Given the description of an element on the screen output the (x, y) to click on. 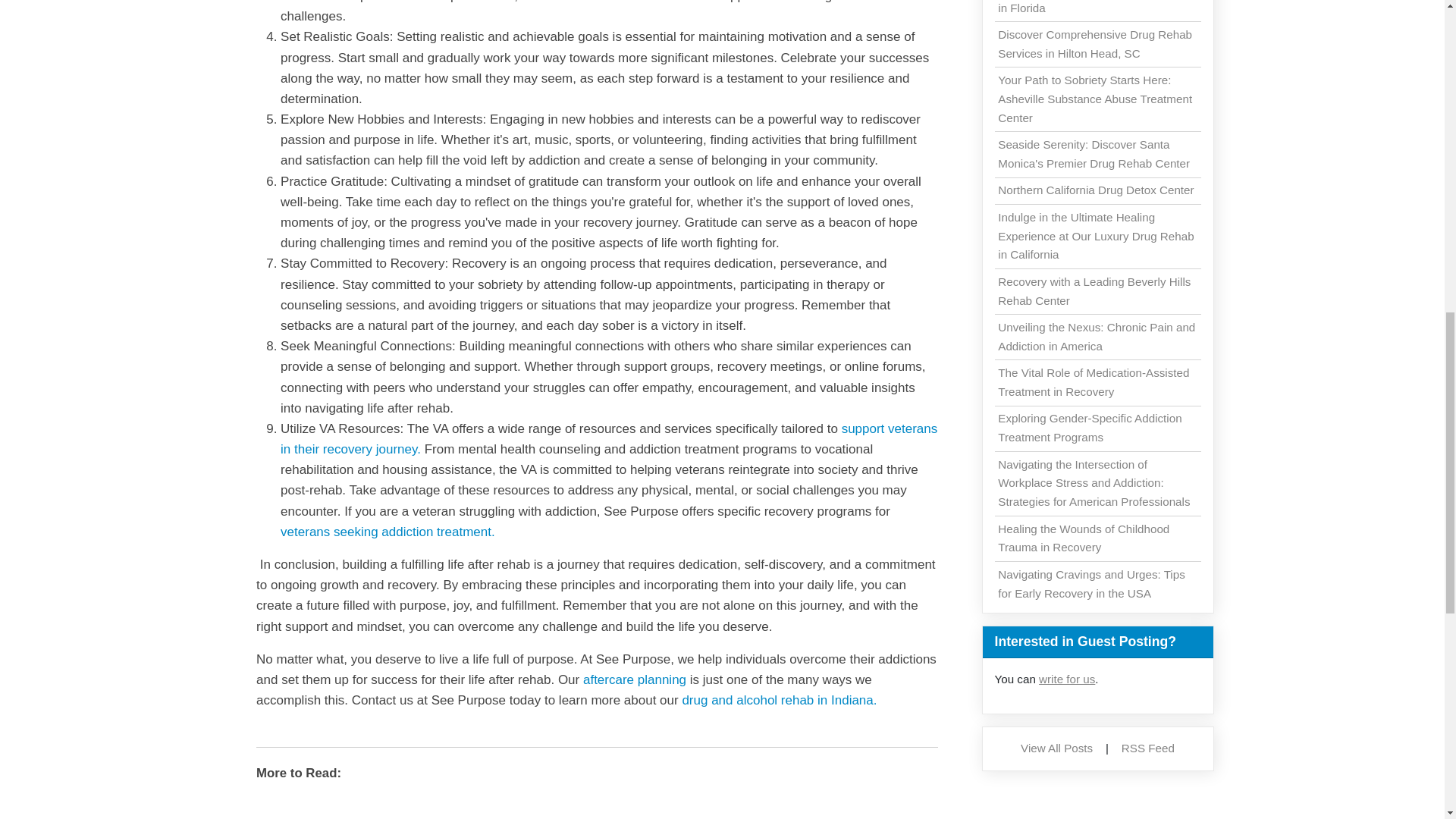
Exploring Gender-Specific Addiction Treatment Programs (1088, 427)
support veterans in their recovery journey. (609, 438)
Northern California Drug Detox Center (1095, 189)
aftercare planning (634, 679)
The Vital Role of Medication-Assisted Treatment in Recovery (1093, 382)
Recovery with a Leading Beverly Hills Rehab Center (1094, 291)
Comprehensive Drug Rehab Program in Florida (1094, 7)
View All Posts (1056, 748)
write for us (1066, 678)
drug and alcohol rehab in Indiana. (778, 699)
